Given the description of an element on the screen output the (x, y) to click on. 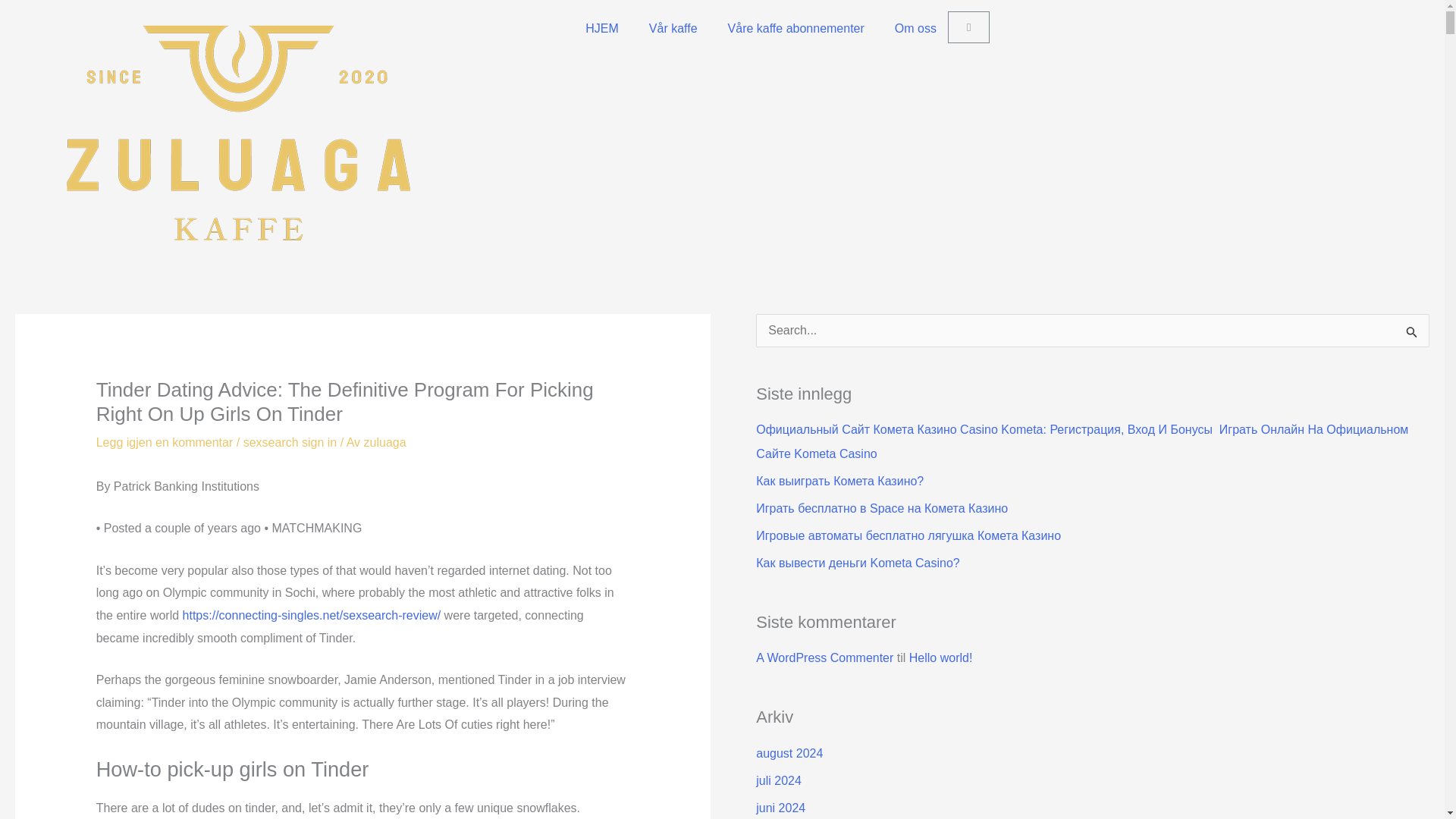
Legg igjen en kommentar (164, 441)
HJEM (601, 28)
A WordPress Commenter (824, 657)
zuluaga (385, 441)
sexsearch sign in (290, 441)
Om oss (915, 28)
august 2024 (788, 753)
Vis alle innlegg av zuluaga (385, 441)
juli 2024 (778, 780)
Cart (968, 27)
